Given the description of an element on the screen output the (x, y) to click on. 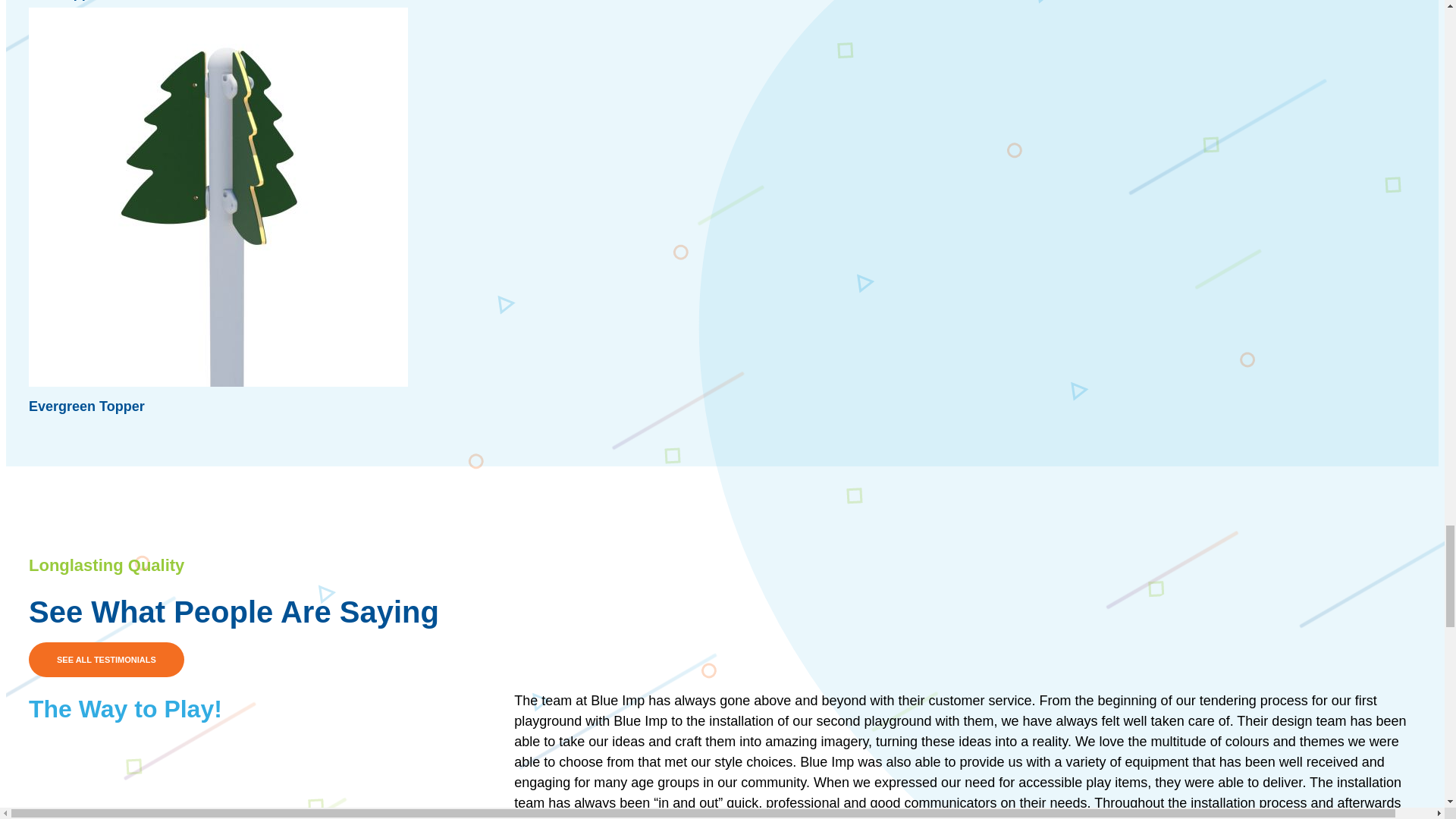
Themed Playgrounds (880, 139)
Outta This World Playground Sale (880, 781)
Pre-School Playgrounds (880, 13)
Playground Components (880, 656)
